Given the description of an element on the screen output the (x, y) to click on. 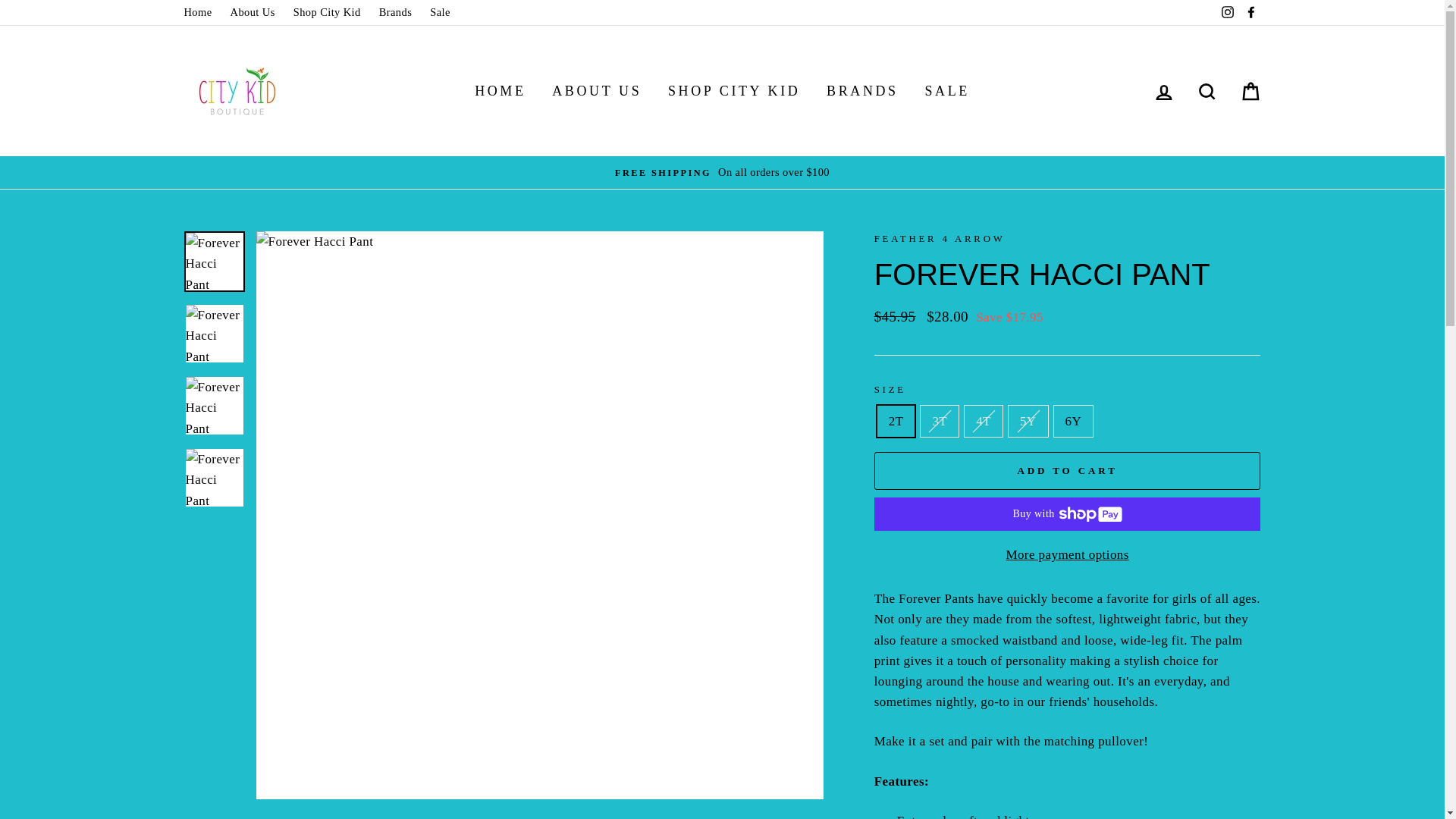
Brands (395, 12)
BRANDS (862, 90)
CART (1249, 91)
Home (197, 12)
SEARCH (1207, 91)
LOG IN (1163, 91)
